Given the description of an element on the screen output the (x, y) to click on. 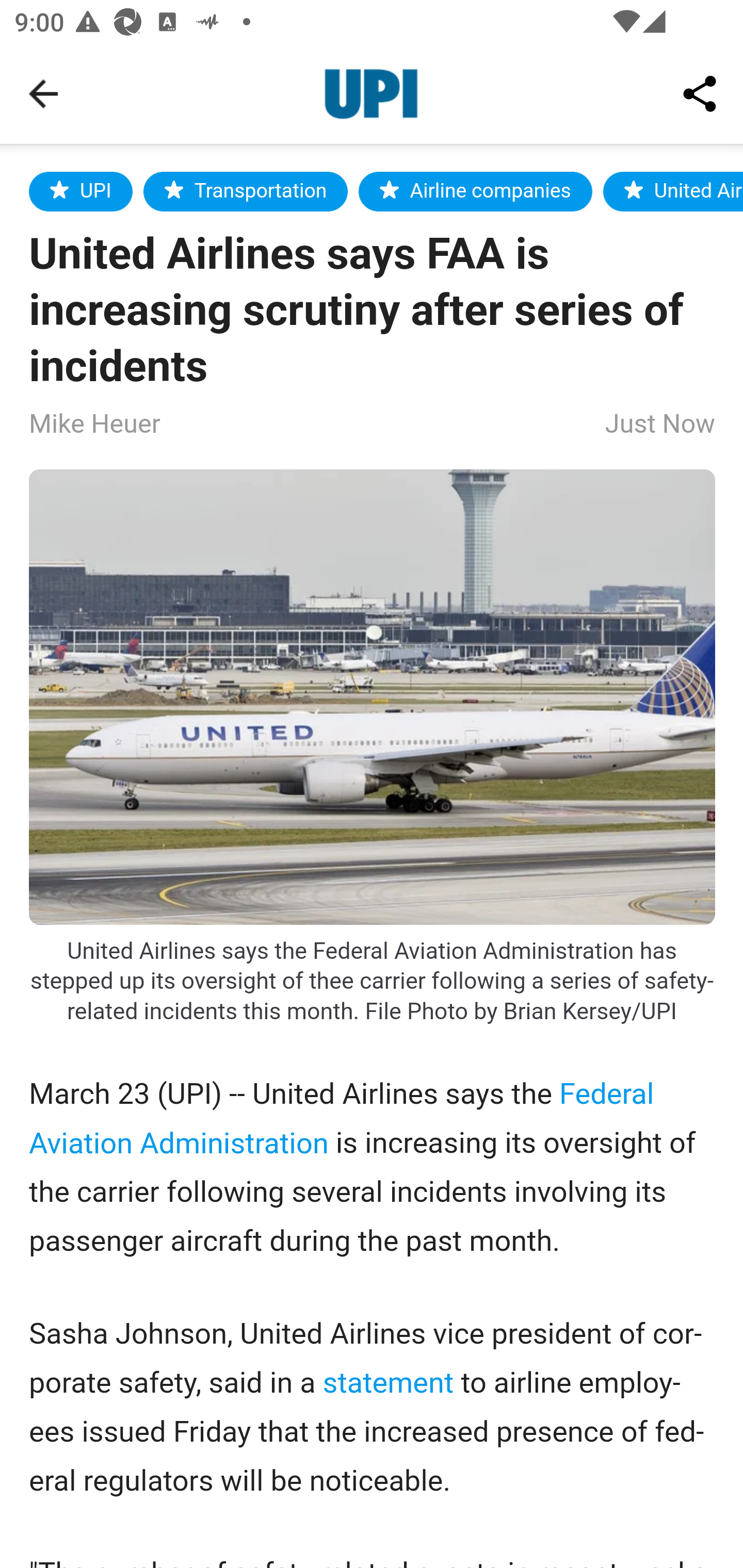
UPI (80, 191)
Transportation (245, 191)
Airline companies (474, 191)
United Airlines (672, 191)
Federal Aviation Administration (341, 1118)
statement (387, 1382)
